Given the description of an element on the screen output the (x, y) to click on. 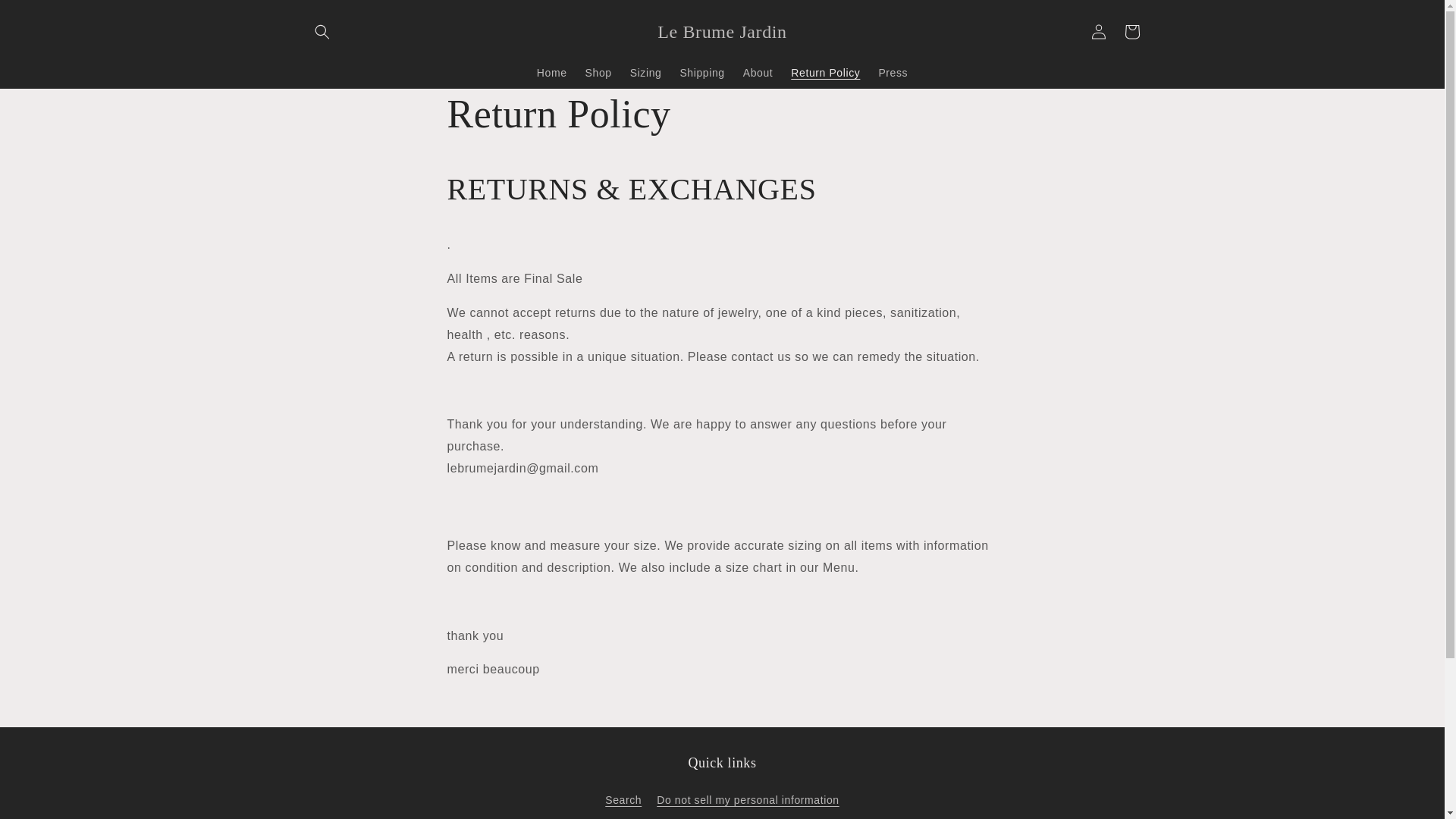
Return Policy (825, 71)
Skip to content (45, 17)
Shipping (701, 71)
Log in (1098, 31)
Do not sell my personal information (747, 800)
Shop (598, 71)
Home (551, 71)
About (758, 71)
Press (893, 71)
Search (623, 802)
